Given the description of an element on the screen output the (x, y) to click on. 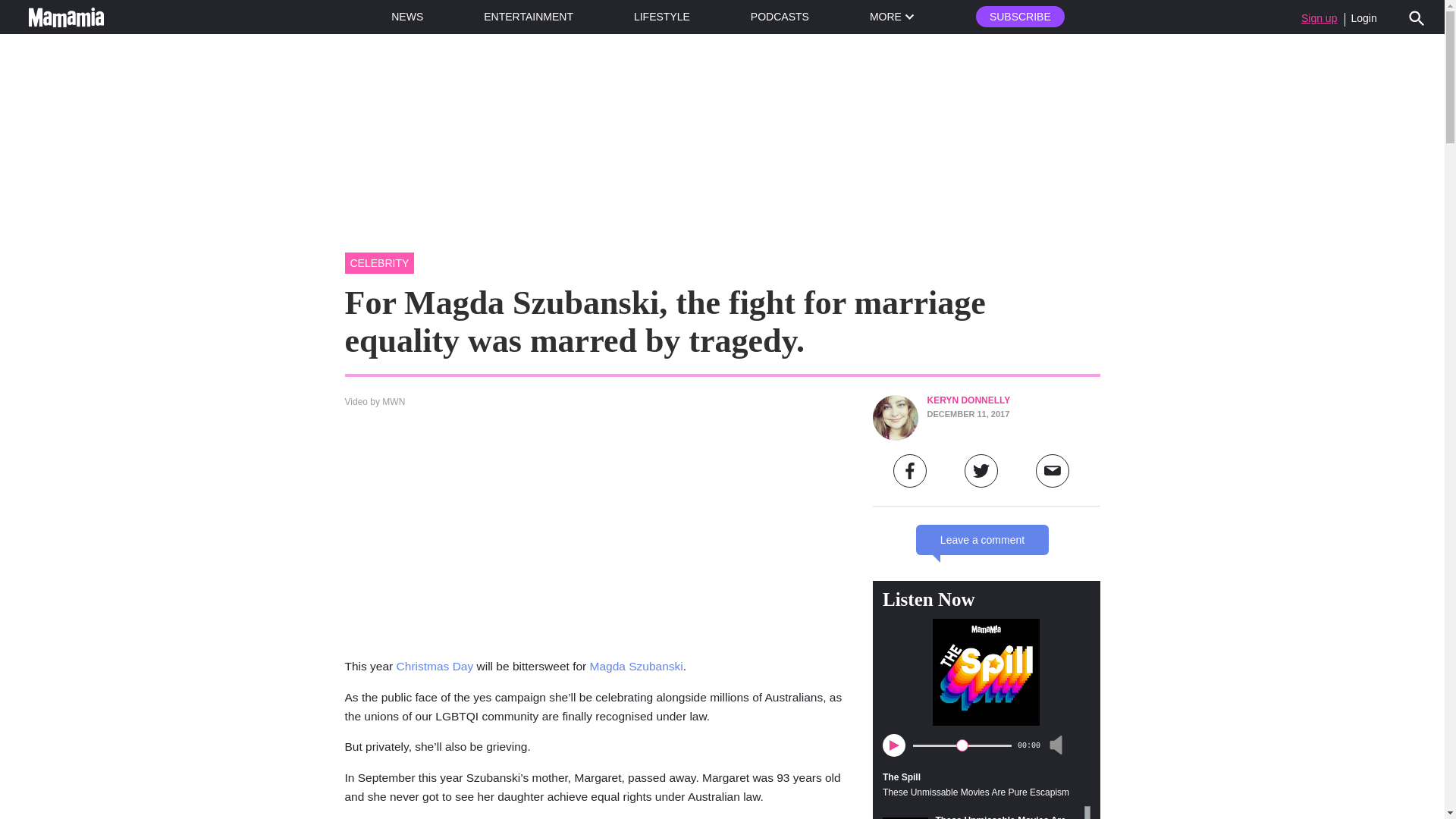
MORE (892, 17)
LIFESTYLE (661, 16)
Search (1416, 17)
NEWS (407, 16)
779.5 (961, 745)
ENTERTAINMENT (528, 16)
PODCASTS (780, 16)
